Given the description of an element on the screen output the (x, y) to click on. 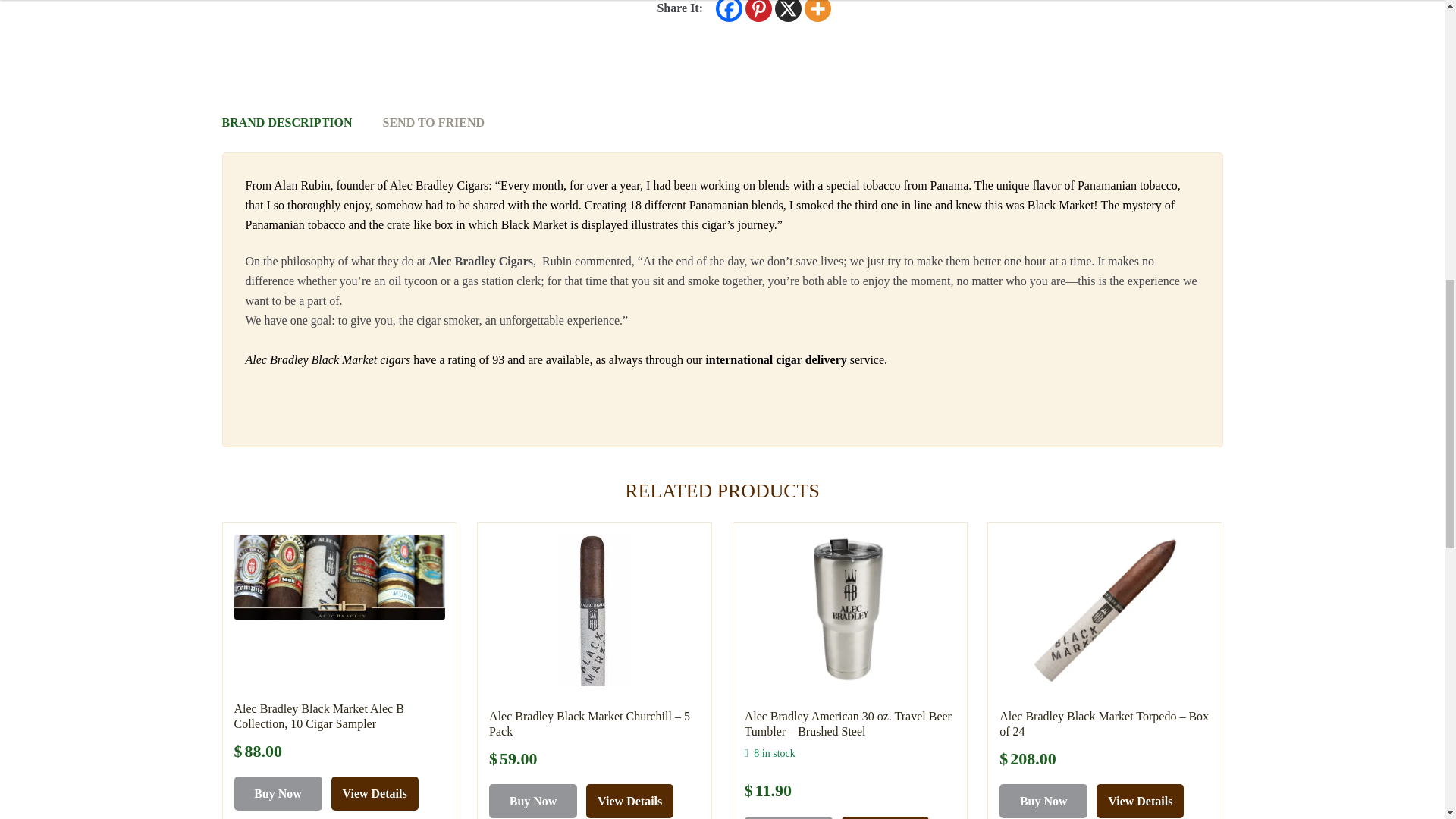
Pinterest (758, 11)
Facebook (729, 11)
